Given the description of an element on the screen output the (x, y) to click on. 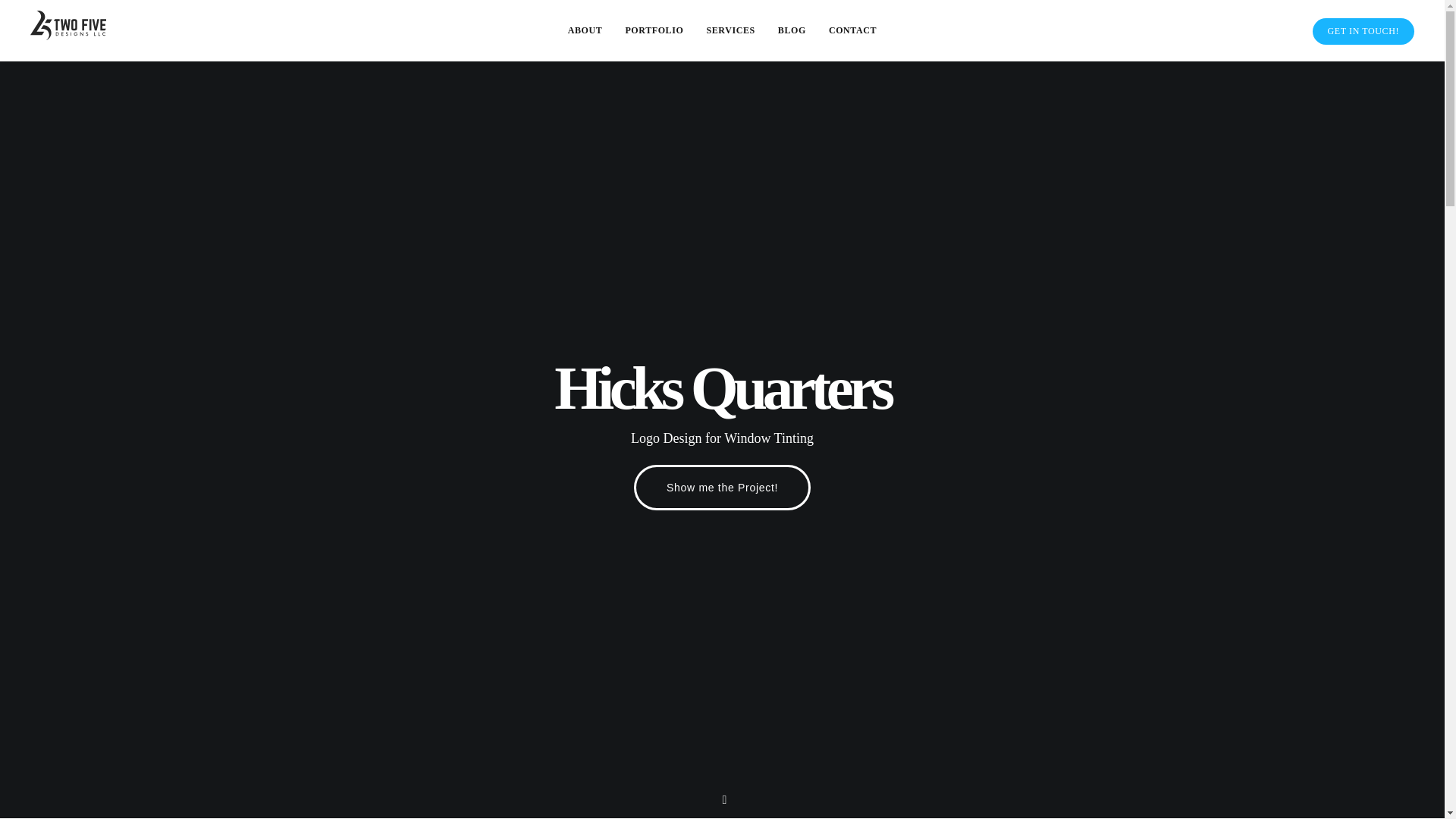
Show me the Project! (721, 486)
PORTFOLIO (653, 30)
GET IN TOUCH! (1363, 31)
Contact Us (1363, 31)
